Given the description of an element on the screen output the (x, y) to click on. 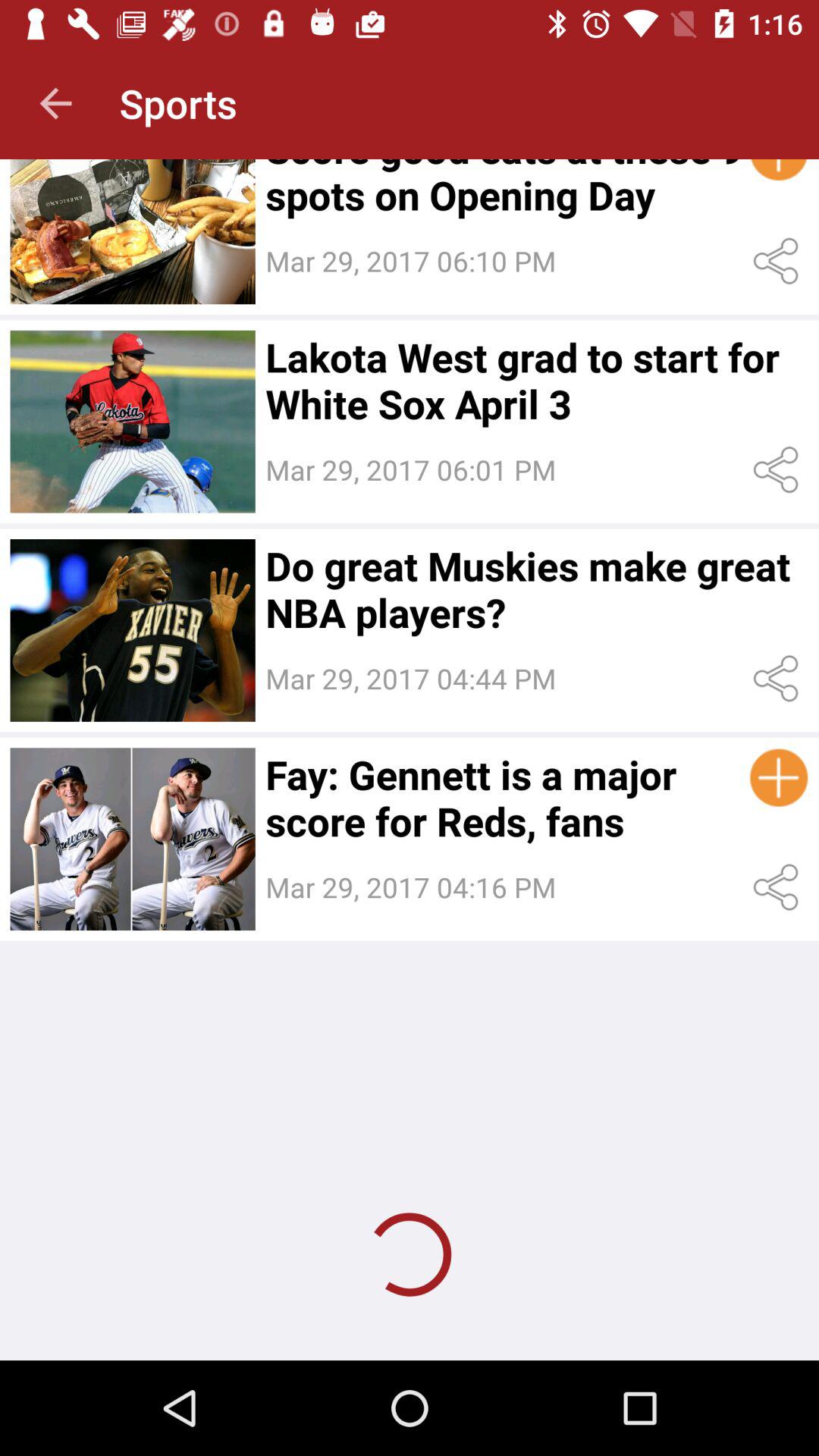
share news (778, 261)
